Given the description of an element on the screen output the (x, y) to click on. 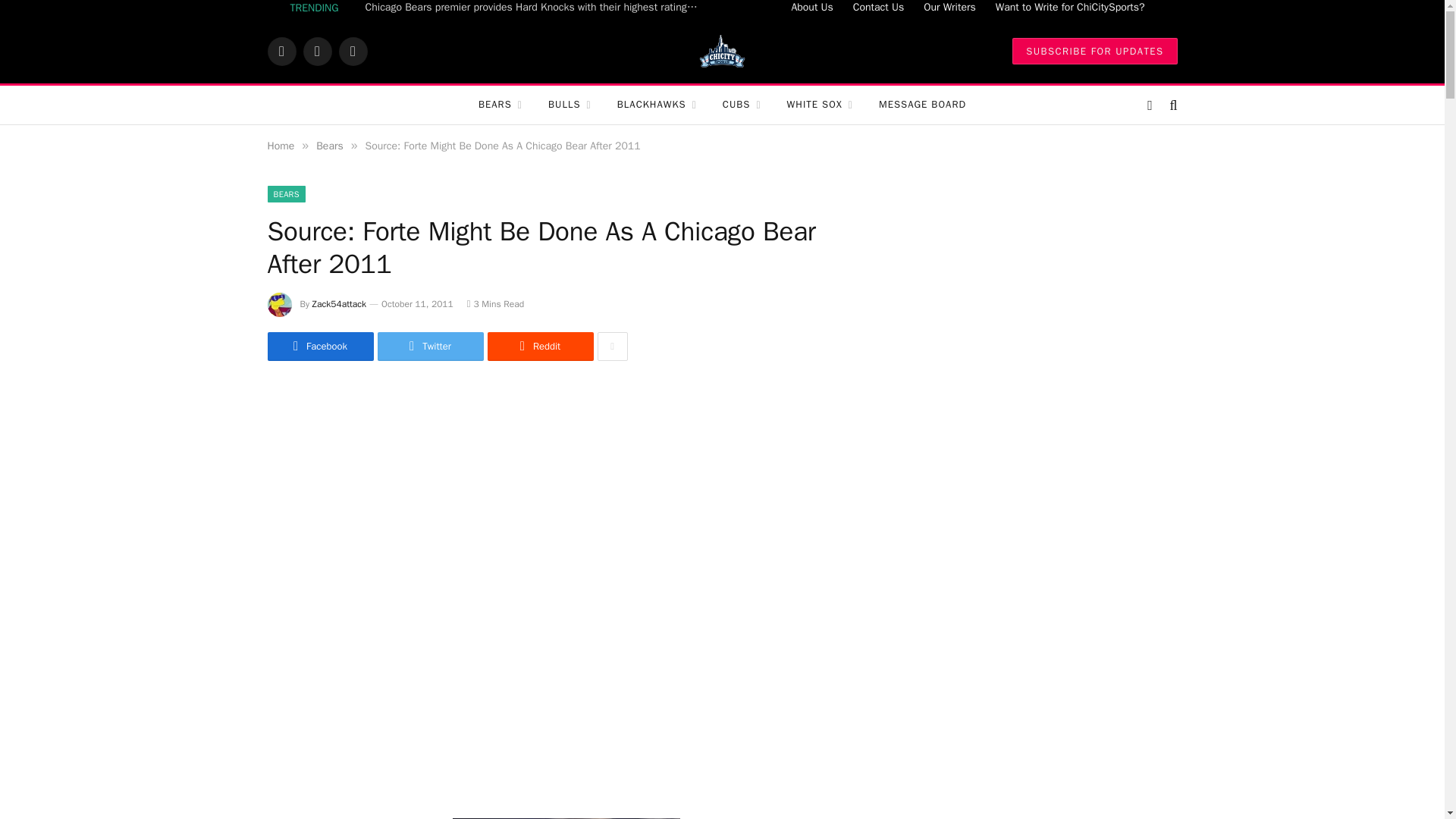
Share on Twitter (430, 346)
Share on Reddit (539, 346)
Switch to Dark Design - easier on eyes. (1149, 105)
Show More Social Sharing (611, 346)
Share on Facebook (319, 346)
Posts by Zack54attack (339, 304)
